Given the description of an element on the screen output the (x, y) to click on. 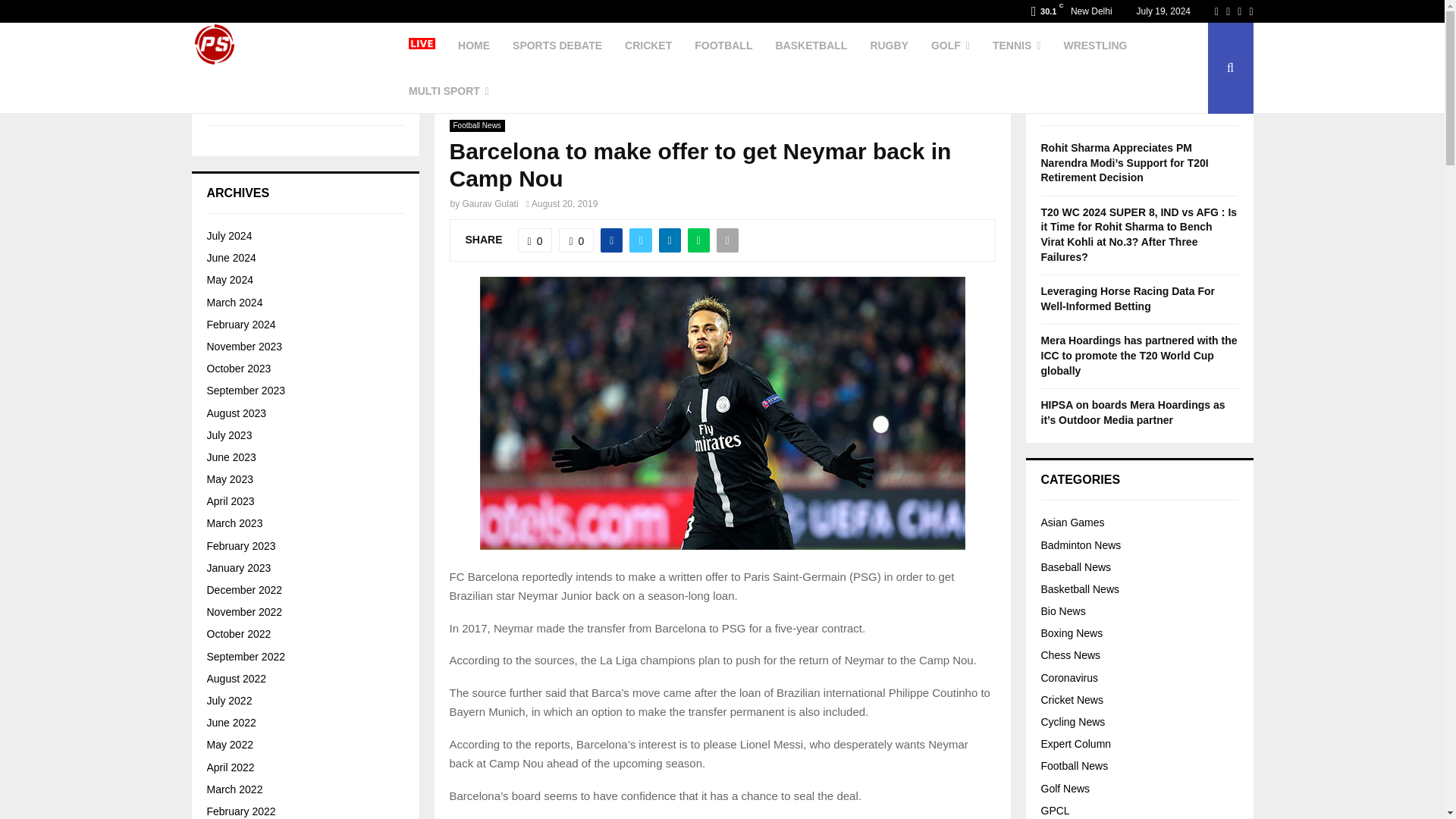
SPORTS DEBATE (557, 44)
TENNIS (1016, 44)
FOOTBALL (723, 44)
BASKETBALL (810, 44)
CRICKET (647, 44)
